Given the description of an element on the screen output the (x, y) to click on. 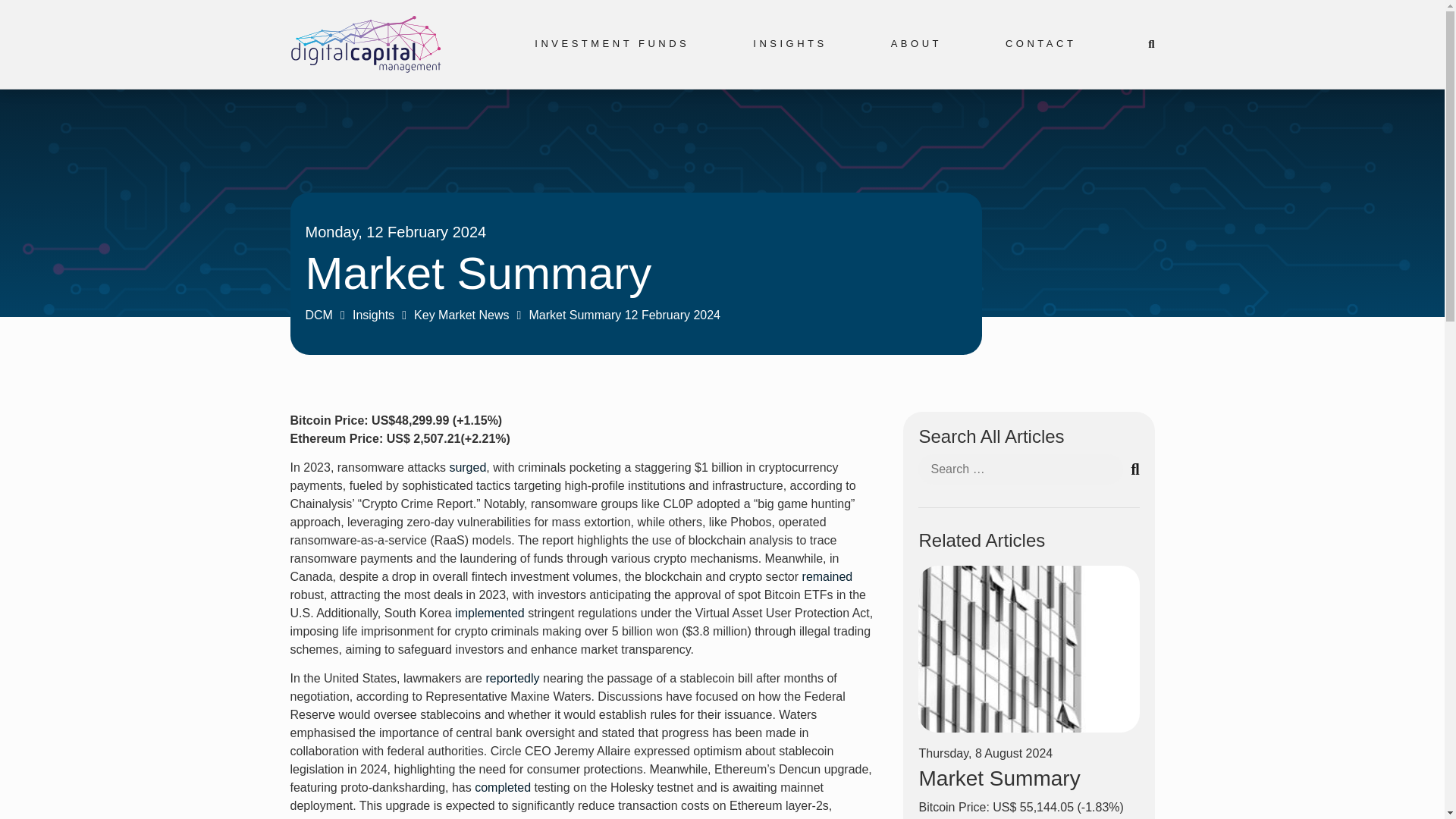
DCM (317, 315)
Key Market News (460, 315)
Insights (373, 315)
reportedly (513, 677)
ABOUT (916, 43)
DCM (317, 315)
remained (827, 576)
INVESTMENT FUNDS (611, 43)
implemented (489, 612)
Key Market News (460, 315)
